Given the description of an element on the screen output the (x, y) to click on. 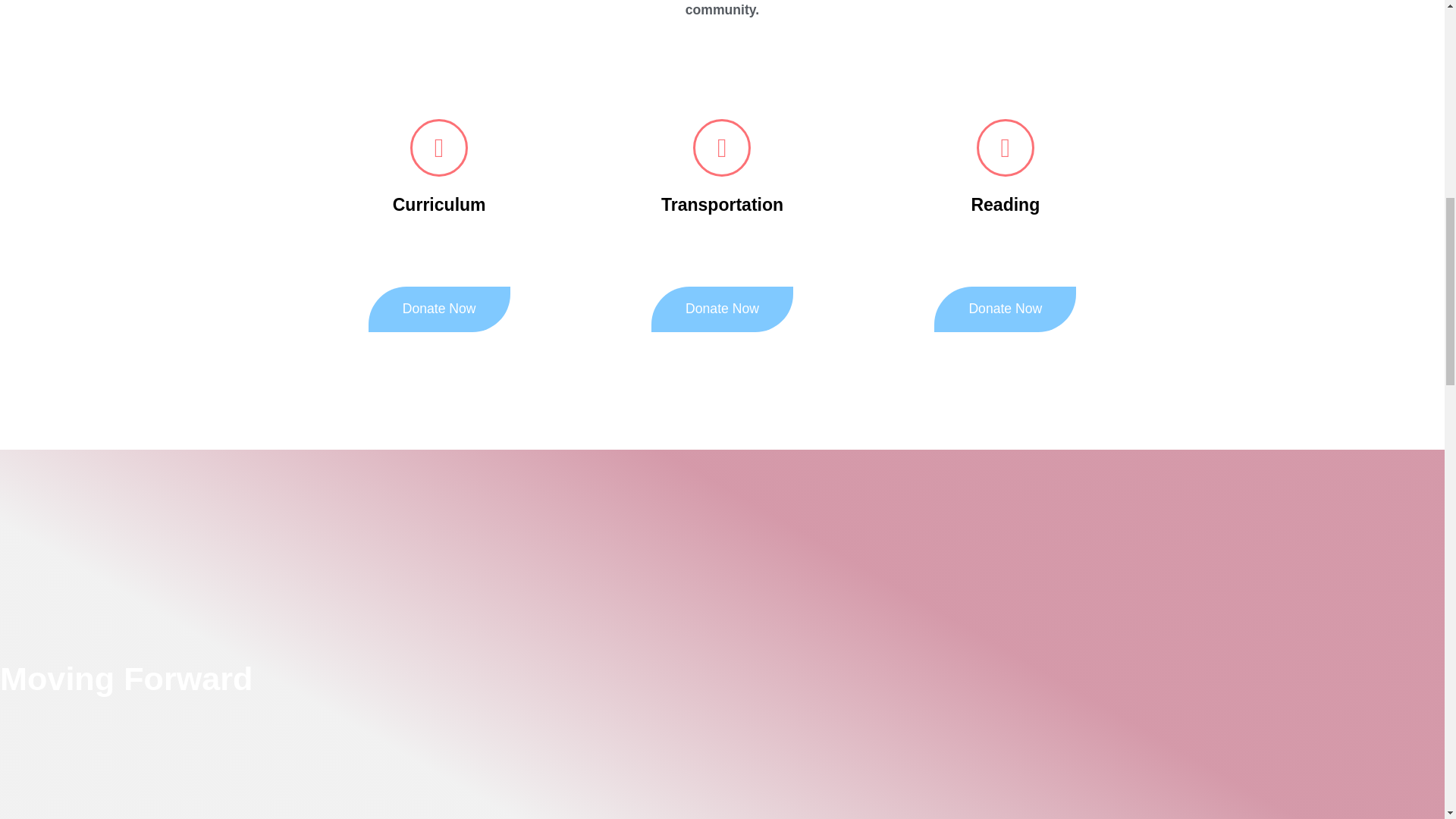
Donate Now (721, 309)
Donate Now (1004, 309)
Transportation (722, 204)
Reading (1005, 204)
Curriculum (439, 204)
Donate Now (439, 309)
